Given the description of an element on the screen output the (x, y) to click on. 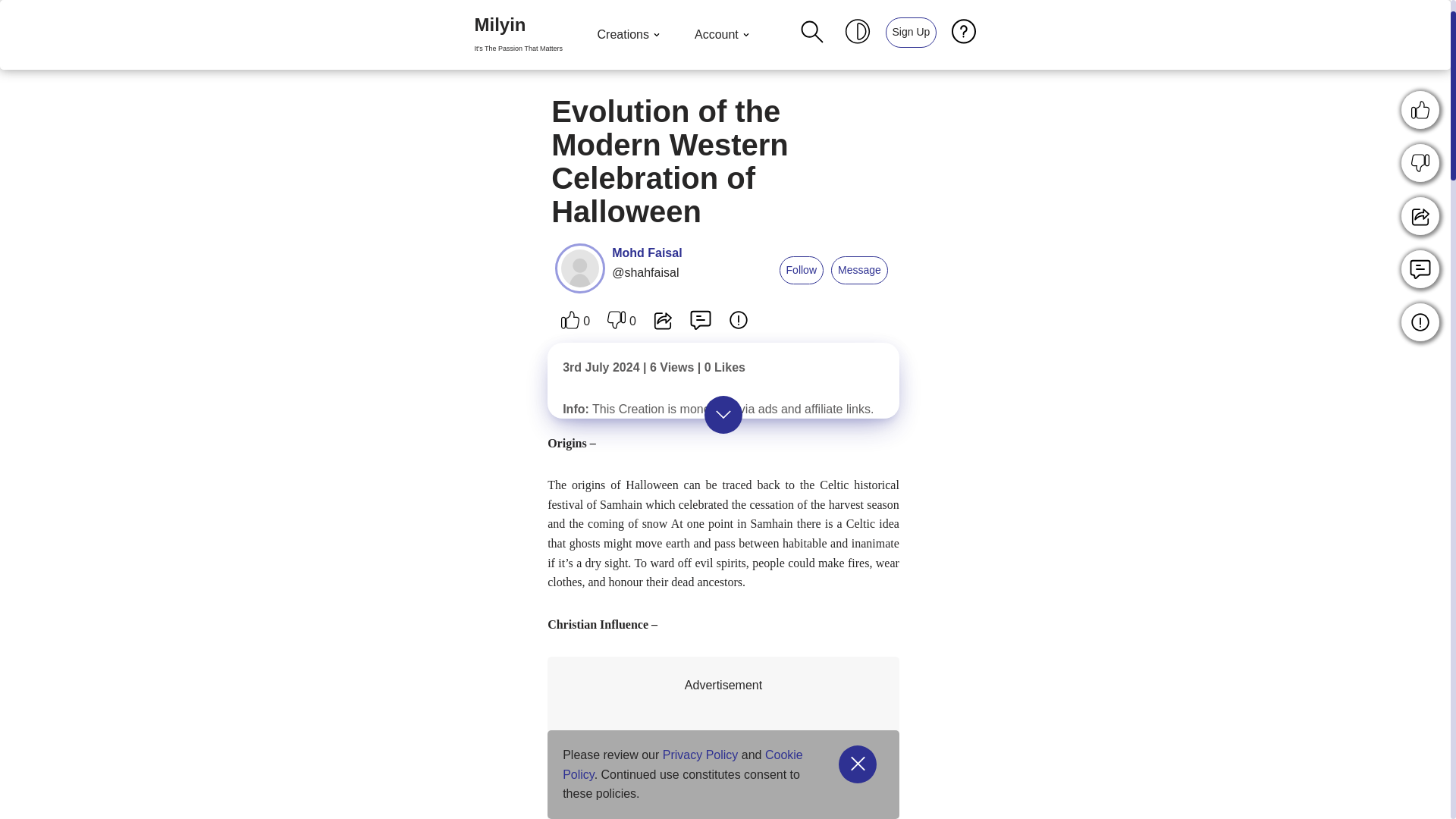
Sign Up (911, 32)
Creations (629, 35)
Account (518, 34)
Follow (724, 35)
Message (801, 270)
Skip to content (859, 270)
Sign Up (11, 31)
Milyin (910, 31)
Mohd Faisal (518, 34)
Advertisement (646, 252)
